Given the description of an element on the screen output the (x, y) to click on. 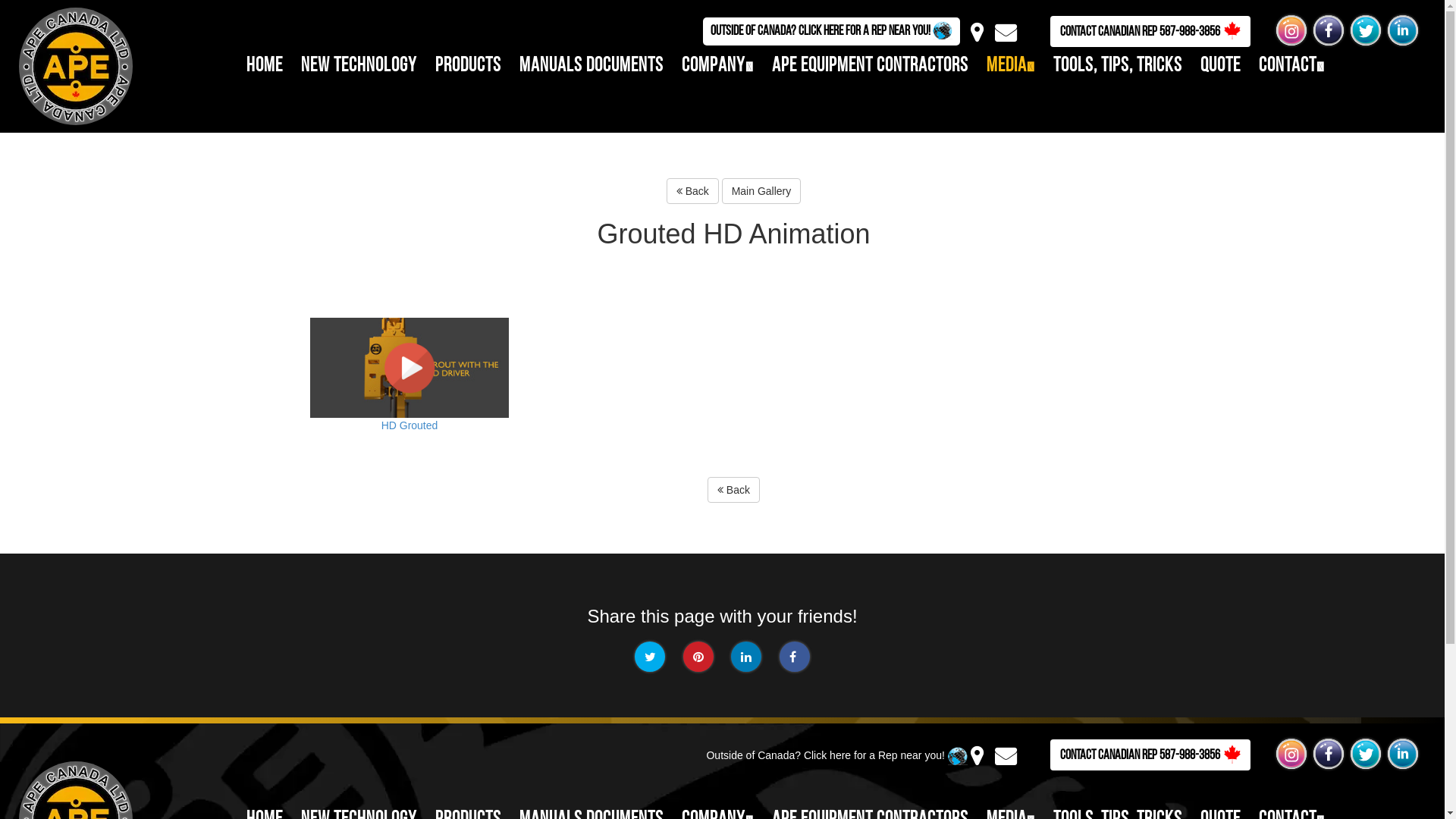
APE Equipment Contractors Element type: text (869, 65)
Follow us on Twitter Element type: hover (1365, 753)
American Piledriving Equipment Canada Homepage Element type: hover (67, 65)
share on Twitter Element type: hover (649, 656)
Back Element type: text (692, 190)
Tools, Tips, Tricks Element type: text (1117, 65)
American Piledriving Equipment Canada Element type: hover (75, 66)
Follow us on Instagram Element type: hover (1291, 753)
share on Facebook Element type: hover (794, 656)
Contact Canadian Rep 587-988-3856 Element type: text (1150, 754)
HD Grouted Element type: text (409, 393)
Manuals Documents Element type: text (591, 65)
Call Amercian Pile Driving Equipment in Alberta Canada Element type: hover (1231, 753)
HD Grouted Element type: hover (409, 367)
Quote Element type: text (1220, 65)
Products Element type: text (468, 65)
Follow us on LinkedIn Element type: hover (1402, 753)
Follow us on LinkedIn Element type: hover (1402, 30)
Contact Canadian Rep 587-988-3856 Element type: text (1150, 31)
New Technology Element type: text (359, 65)
Follow us on Instagram Element type: hover (1291, 30)
share on LinkedIn Element type: hover (746, 656)
Call Amercian Pile Driving Equipment in Alberta Canada Element type: hover (1231, 30)
pin to Pinterest Element type: hover (698, 656)
Main Gallery Element type: text (761, 190)
Outside of Canada? Click here for a Rep near you! Element type: text (831, 31)
Follow us on Facebook Element type: hover (1328, 753)
Back Element type: text (733, 489)
Follow us on Facebook Element type: hover (1328, 30)
Outside of Canada? Click here for a Rep near you! Element type: text (836, 755)
home Element type: text (264, 65)
Follow us on Twitter Element type: hover (1365, 30)
